Given the description of an element on the screen output the (x, y) to click on. 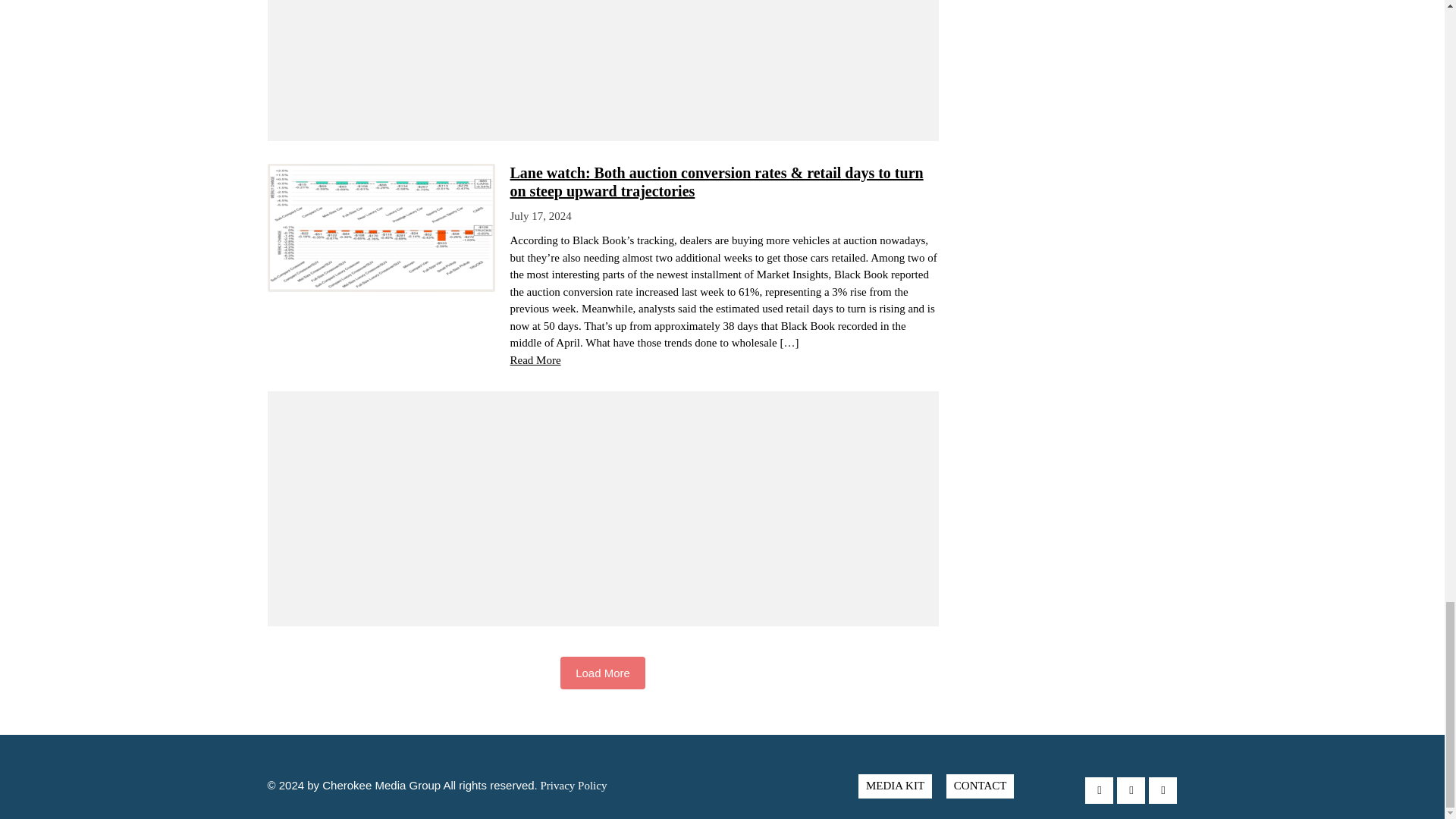
3rd party ad content (602, 58)
3rd party ad content (602, 508)
